Given the description of an element on the screen output the (x, y) to click on. 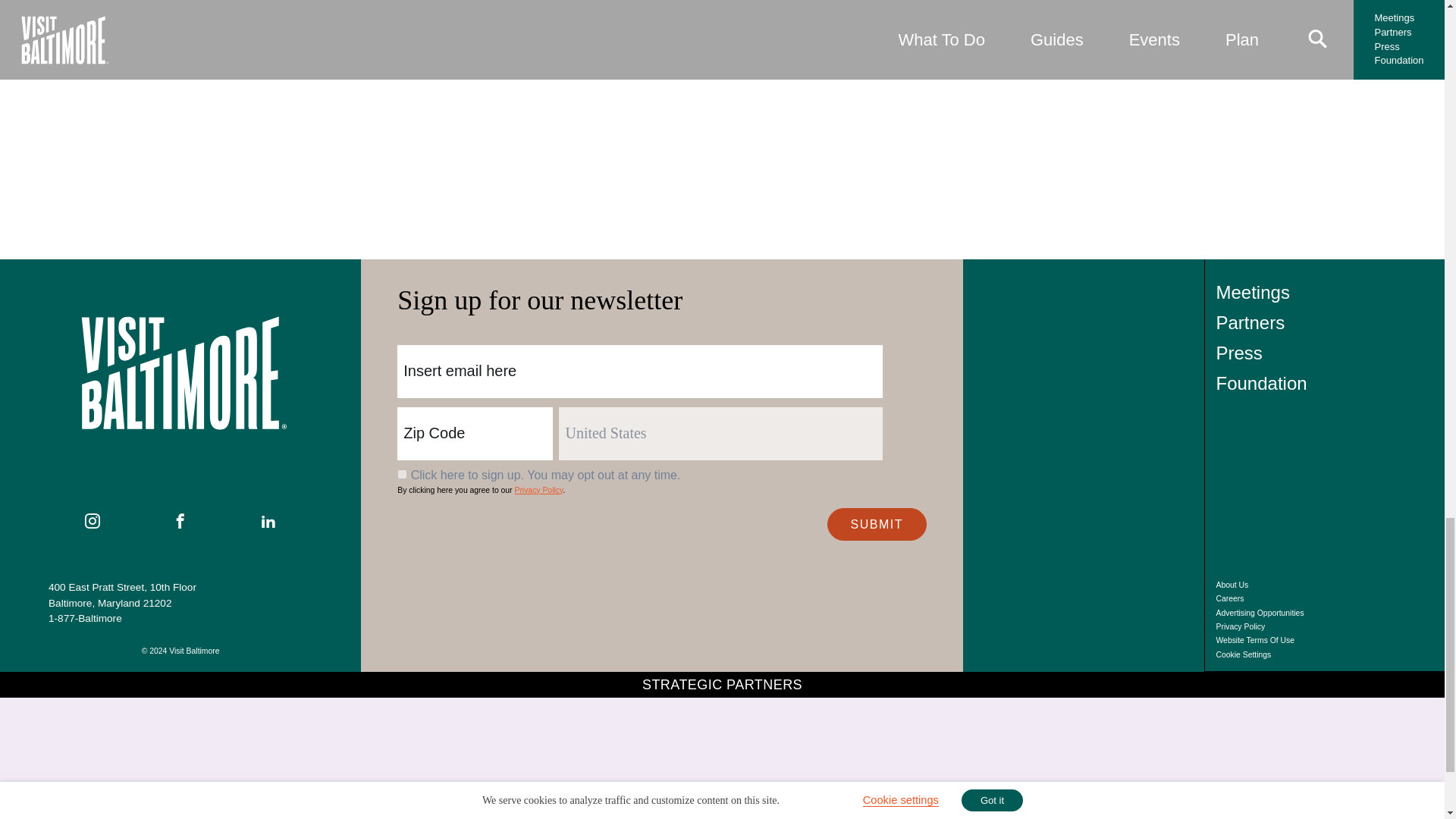
1 (402, 473)
